Given the description of an element on the screen output the (x, y) to click on. 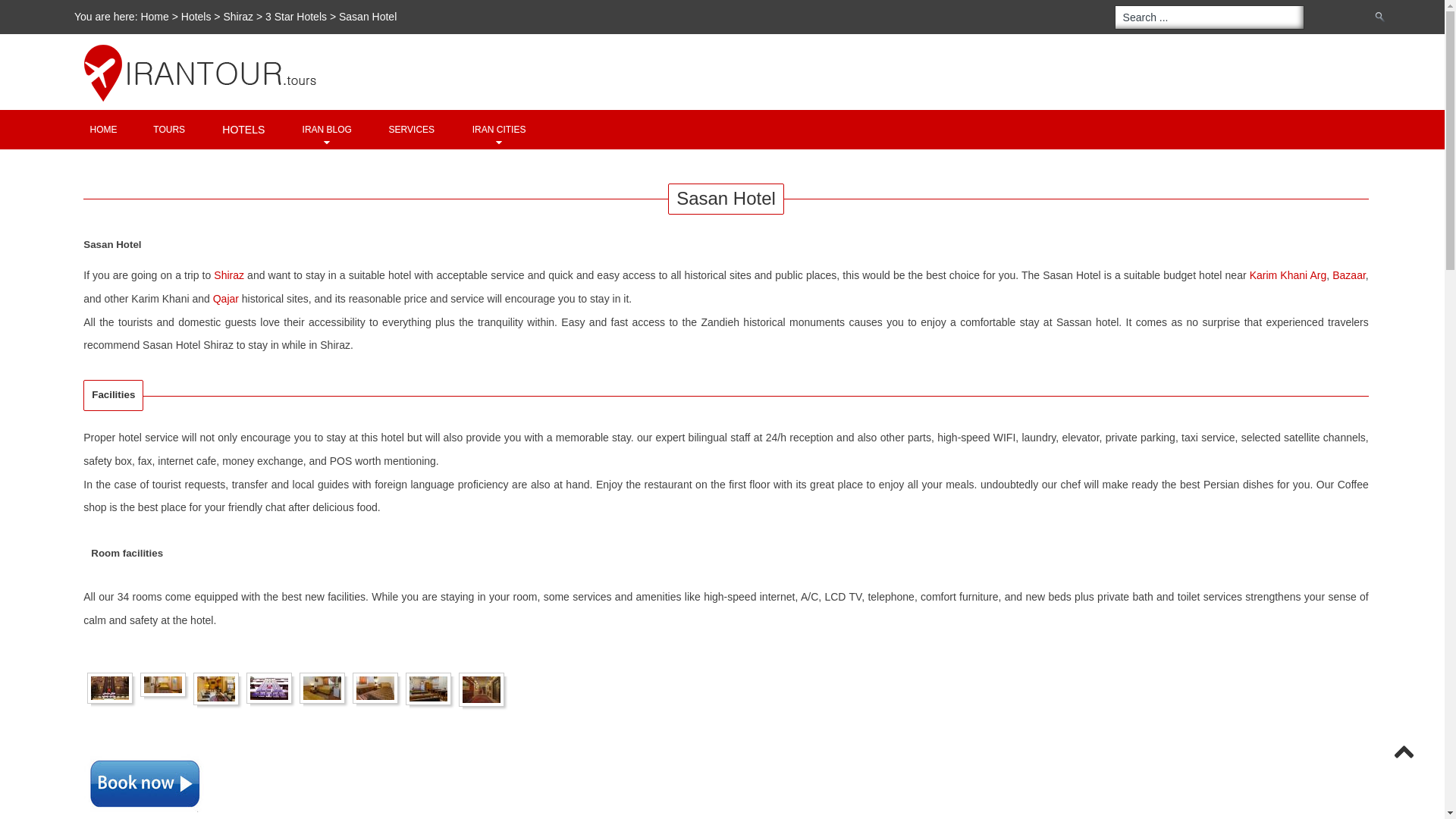
Shiraz (238, 16)
HOTELS (242, 129)
SERVICES (411, 129)
Home (154, 16)
Hotels (195, 16)
Tours (168, 129)
irantour.tours (735, 44)
IRAN BLOG (326, 129)
Home (103, 129)
Search ... (1209, 16)
